Given the description of an element on the screen output the (x, y) to click on. 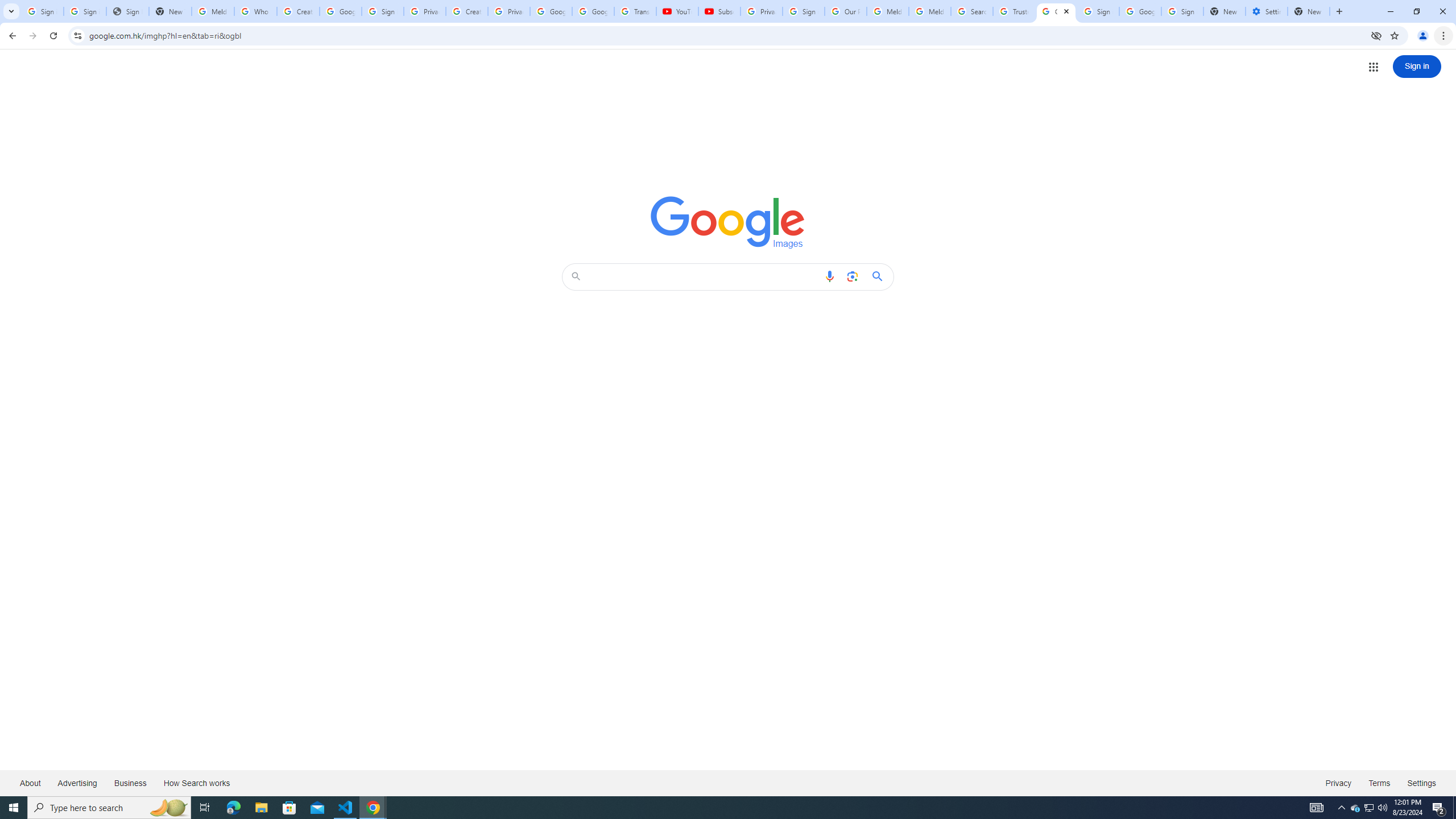
Settings - Addresses and more (1266, 11)
Sign in - Google Accounts (1097, 11)
Create your Google Account (467, 11)
View site information (77, 35)
Third-party cookies blocked (1376, 35)
Search by voice (829, 276)
Google Cybersecurity Innovations - Google Safety Center (1139, 11)
System (6, 6)
Restore (1416, 11)
About (30, 782)
Back (10, 35)
